Given the description of an element on the screen output the (x, y) to click on. 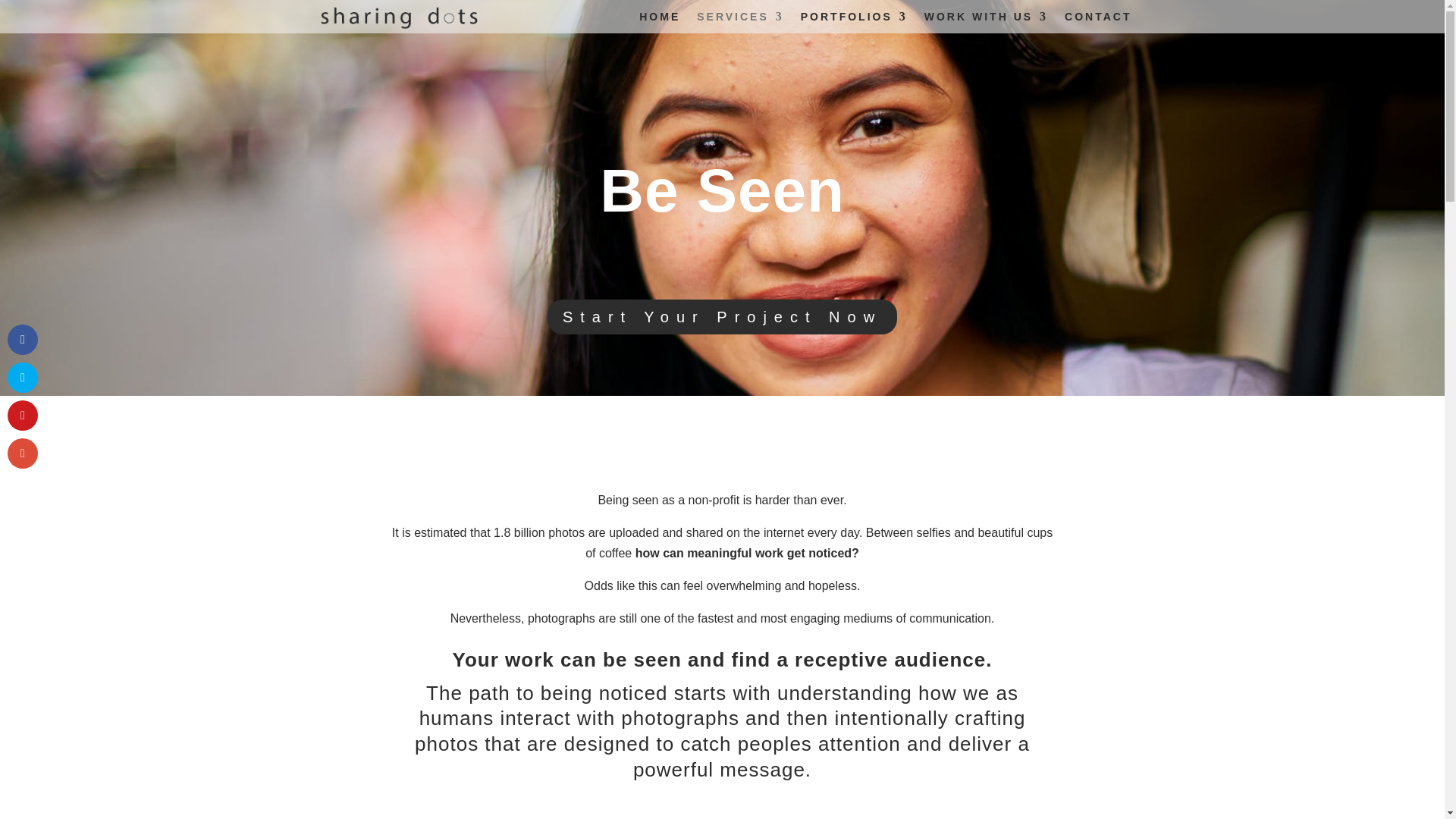
PORTFOLIOS (853, 22)
CONTACT (1097, 22)
HOME (659, 22)
WORK WITH US (986, 22)
SERVICES (740, 22)
Start Your Project Now (721, 316)
